Given the description of an element on the screen output the (x, y) to click on. 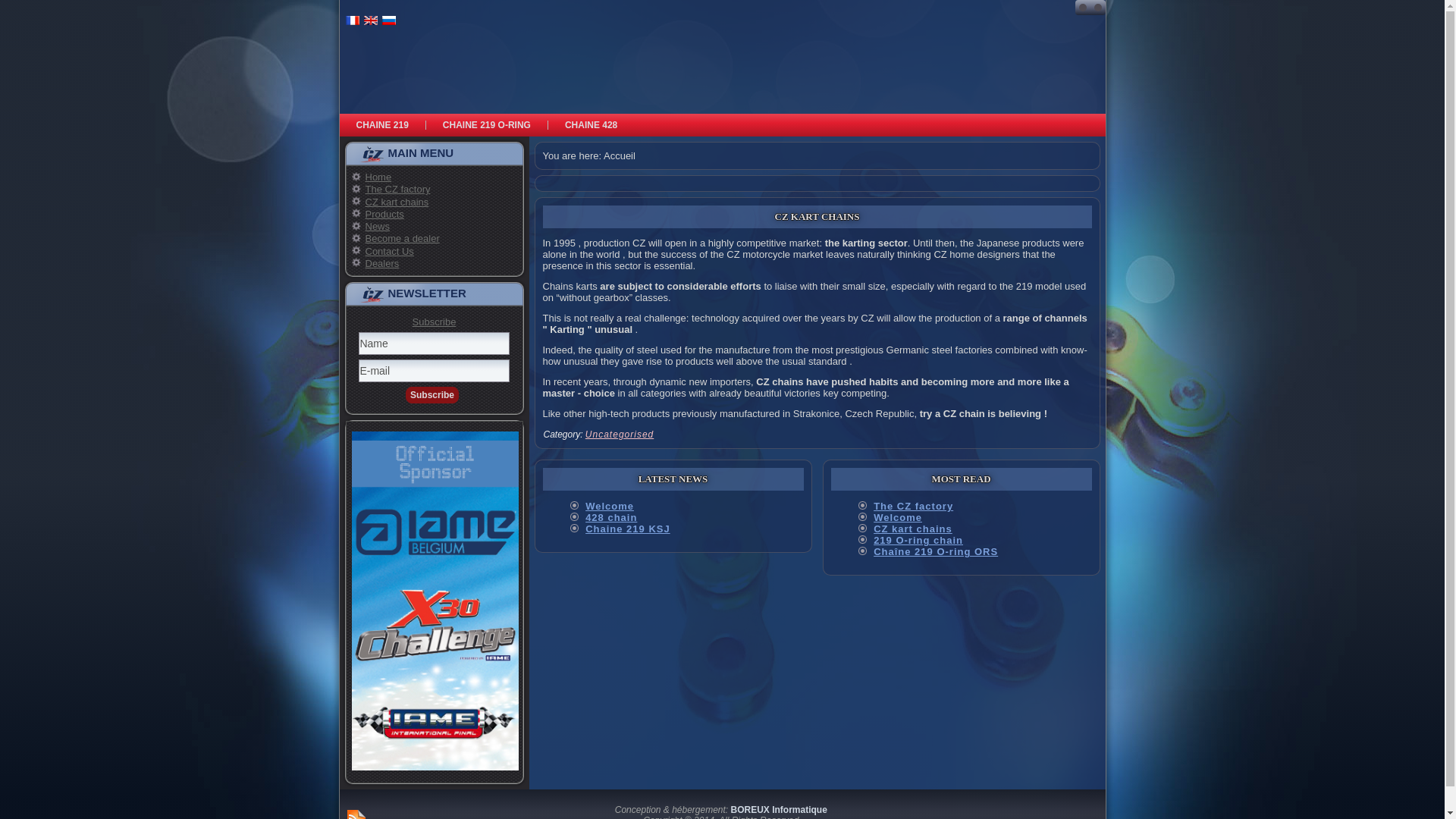
Name Element type: hover (433, 343)
CHAINE 219 Element type: text (382, 124)
Uncategorised Element type: text (619, 434)
Russian Element type: hover (387, 20)
CZ kart chains Element type: text (912, 528)
BOREUX Informatique Element type: text (779, 809)
Chaine 219 KSJ Element type: text (627, 528)
CZ kart chains Element type: text (397, 201)
The CZ factory Element type: text (397, 188)
Dealers Element type: text (382, 263)
428 chain Element type: text (611, 517)
Welcome Element type: text (897, 517)
Contact Us Element type: text (389, 251)
Products Element type: text (384, 213)
News Element type: text (377, 226)
219 O-ring chain Element type: text (918, 540)
CHAINE 428 Element type: text (590, 124)
Become a dealer Element type: text (402, 238)
Subscribe Element type: text (431, 394)
CHAINE 219 O-RING Element type: text (486, 124)
Welcome Element type: text (609, 505)
Home Element type: text (378, 176)
The CZ factory Element type: text (913, 505)
Sponsors Officiels Element type: hover (434, 600)
English (UK) Element type: hover (369, 20)
Subscribe Element type: text (434, 321)
E-mail Element type: hover (433, 370)
